Given the description of an element on the screen output the (x, y) to click on. 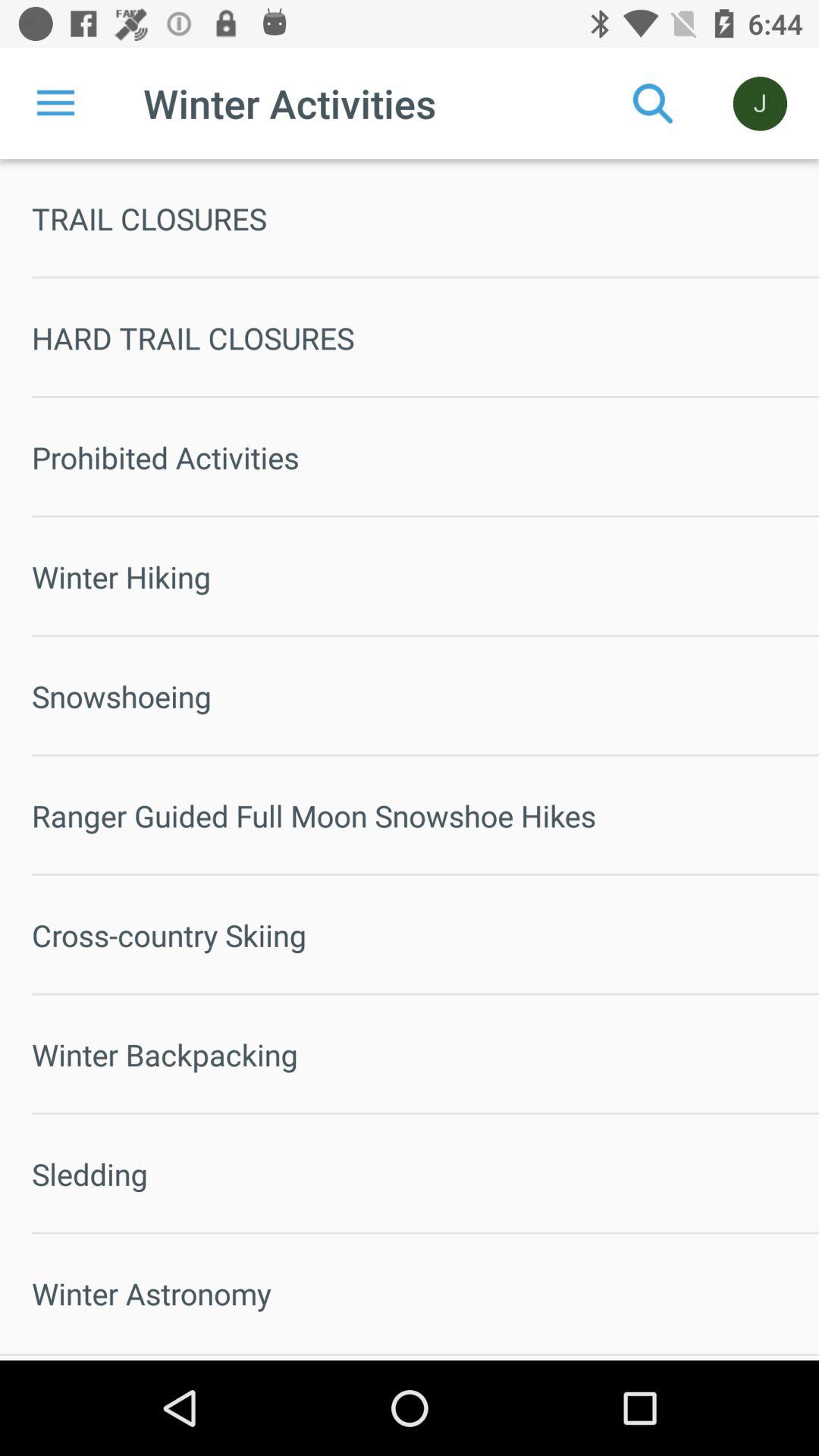
swipe until the prohibited activities (425, 457)
